Given the description of an element on the screen output the (x, y) to click on. 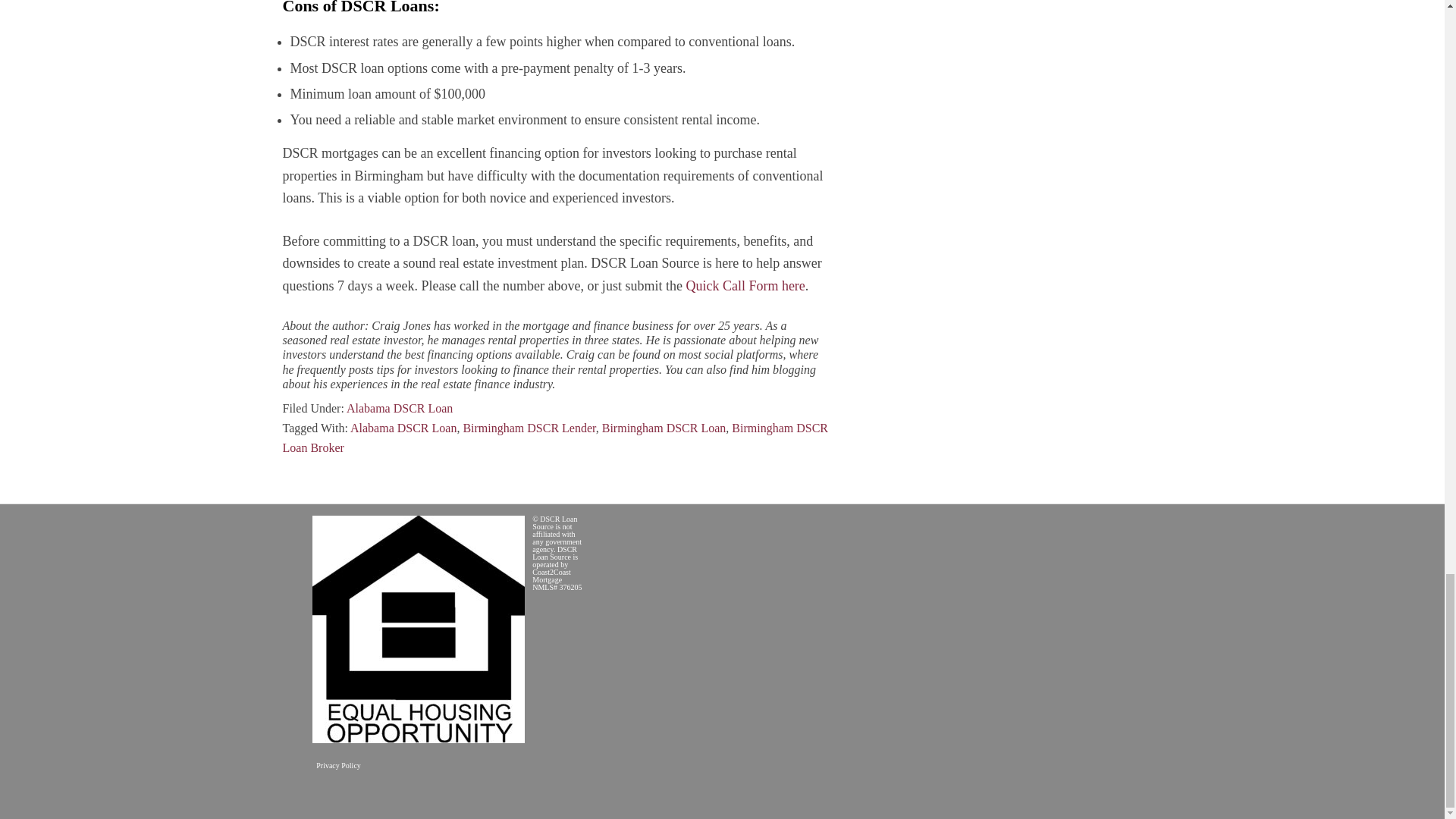
Alabama DSCR Loan (399, 408)
Quick Call Form here (745, 285)
Privacy Policy (339, 765)
Alabama DSCR Loan (403, 427)
Birmingham DSCR Lender (529, 427)
Birmingham DSCR Loan (664, 427)
Birmingham DSCR Loan Broker (555, 437)
